Given the description of an element on the screen output the (x, y) to click on. 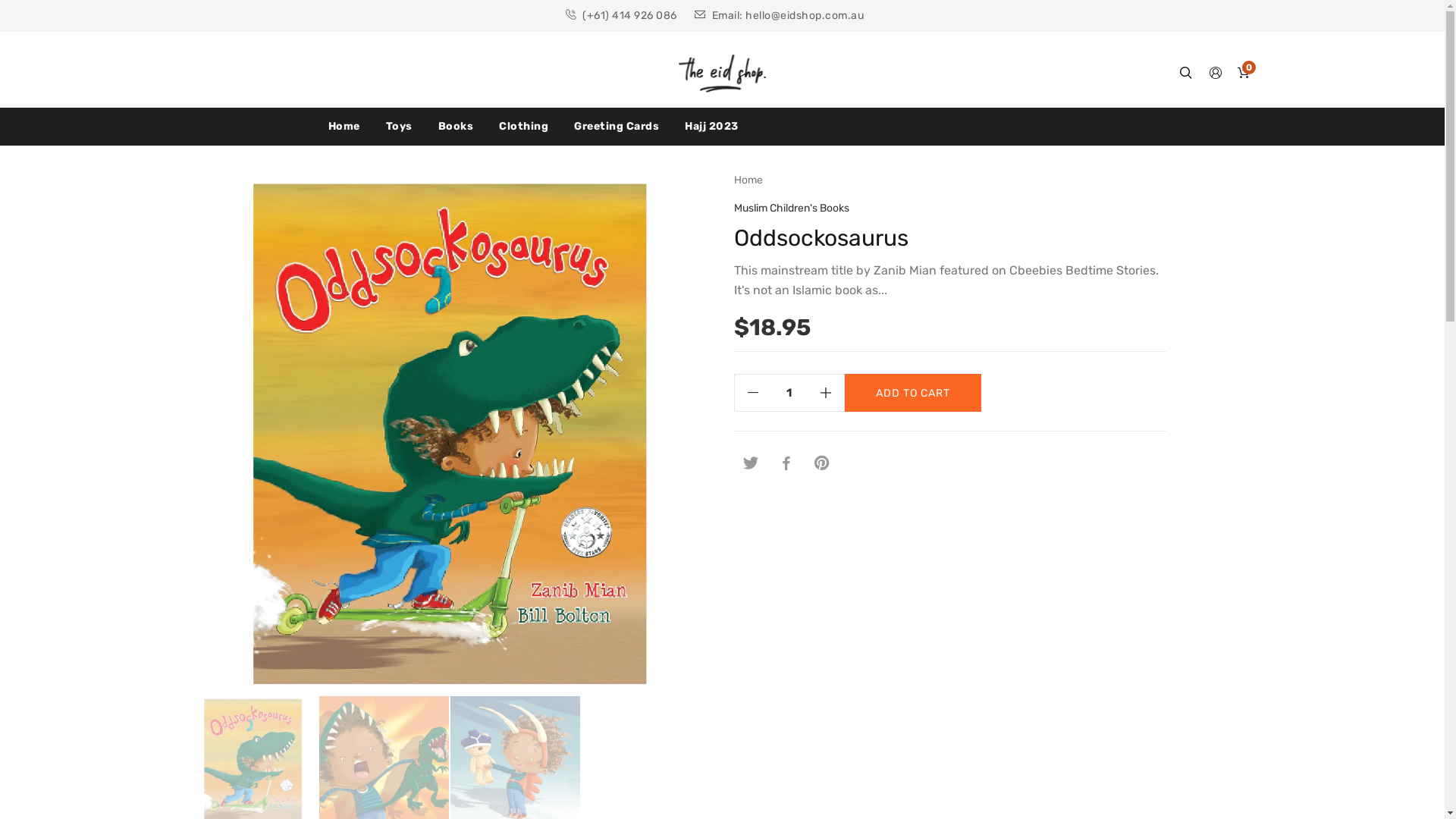
Hajj 2023 Element type: text (711, 132)
Clothing Element type: text (523, 132)
Home Element type: text (748, 179)
Home Element type: text (349, 132)
vimeo Element type: hover (821, 462)
Toys Element type: text (399, 132)
Books Element type: text (455, 132)
Facebook Element type: hover (785, 462)
Twitter Element type: hover (750, 462)
0 Element type: text (1243, 73)
ADD TO CART Element type: text (912, 392)
Greeting Cards Element type: text (616, 132)
